Given the description of an element on the screen output the (x, y) to click on. 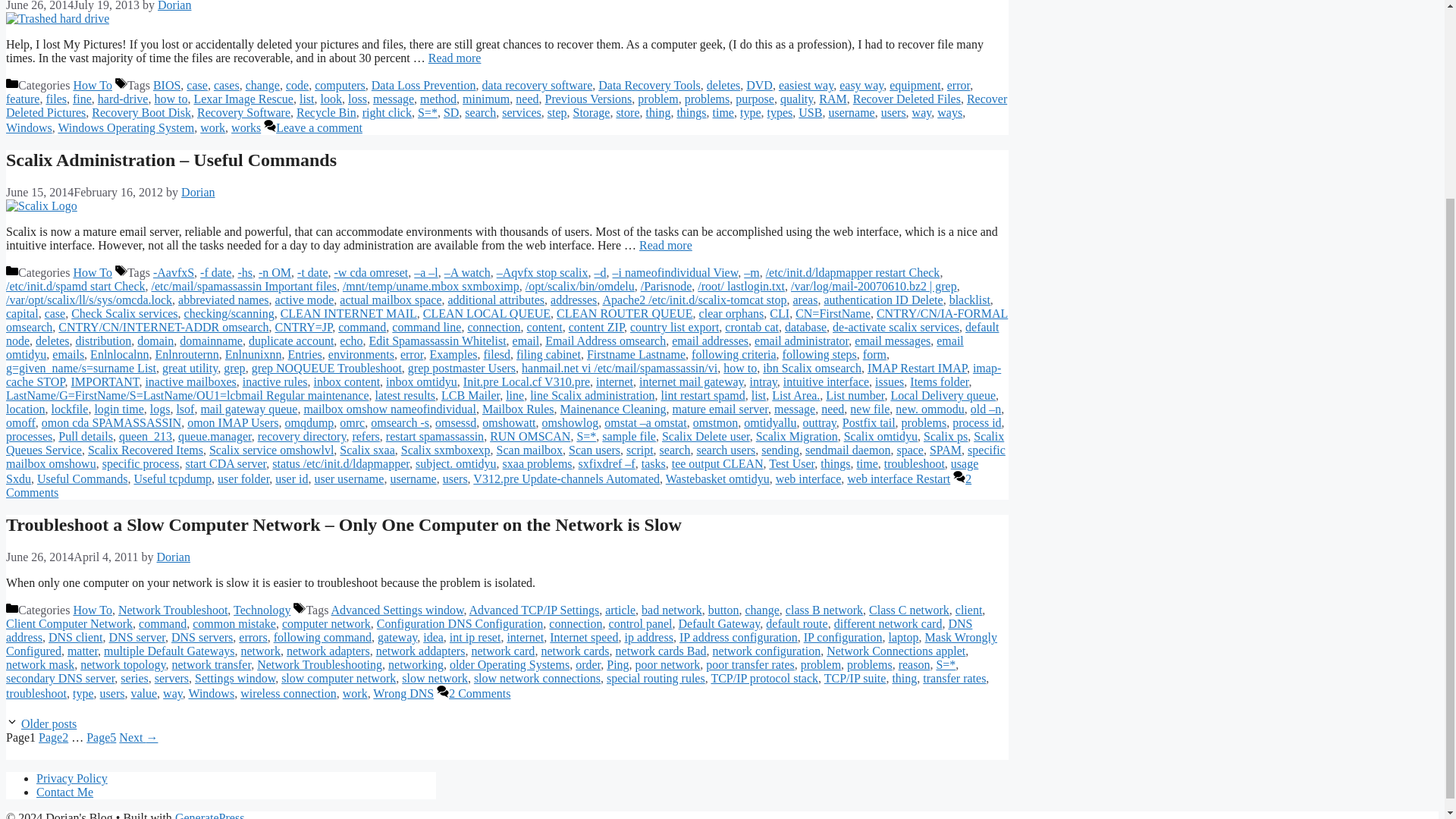
files (55, 98)
easy way (861, 84)
minimum (486, 98)
How To (92, 84)
BIOS (166, 84)
computers (339, 84)
look (331, 98)
message (392, 98)
how to (170, 98)
loss (356, 98)
case (197, 84)
cases (227, 84)
deletes (722, 84)
feature (22, 98)
Previous (49, 723)
